Given the description of an element on the screen output the (x, y) to click on. 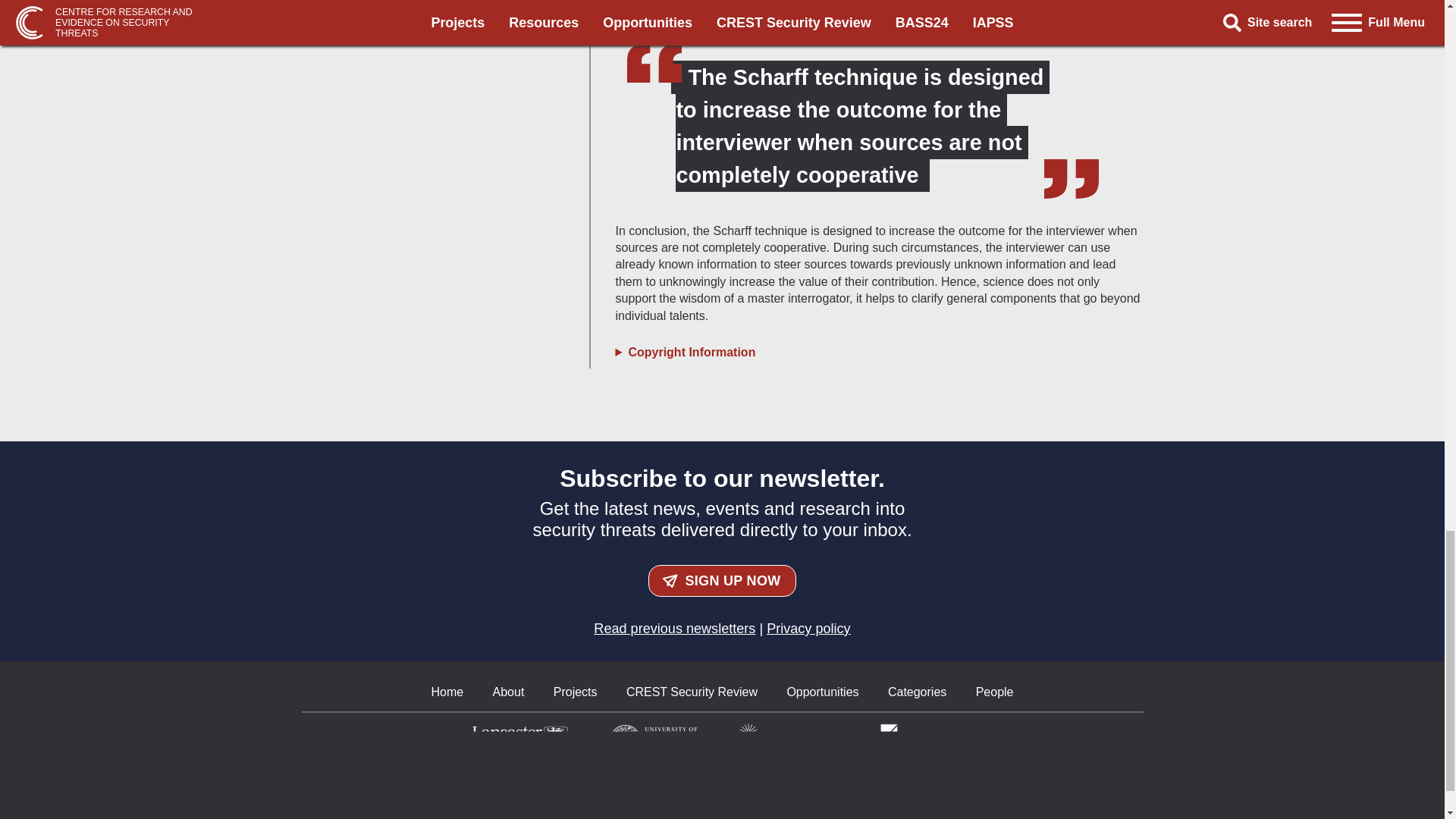
Projects (574, 692)
Categories (917, 692)
Home (446, 692)
Privacy policy (808, 628)
About (508, 692)
Opportunities (822, 692)
CREST Security Review (691, 692)
People (994, 692)
SIGN UP NOW (721, 581)
Read previous newsletters (674, 628)
